Given the description of an element on the screen output the (x, y) to click on. 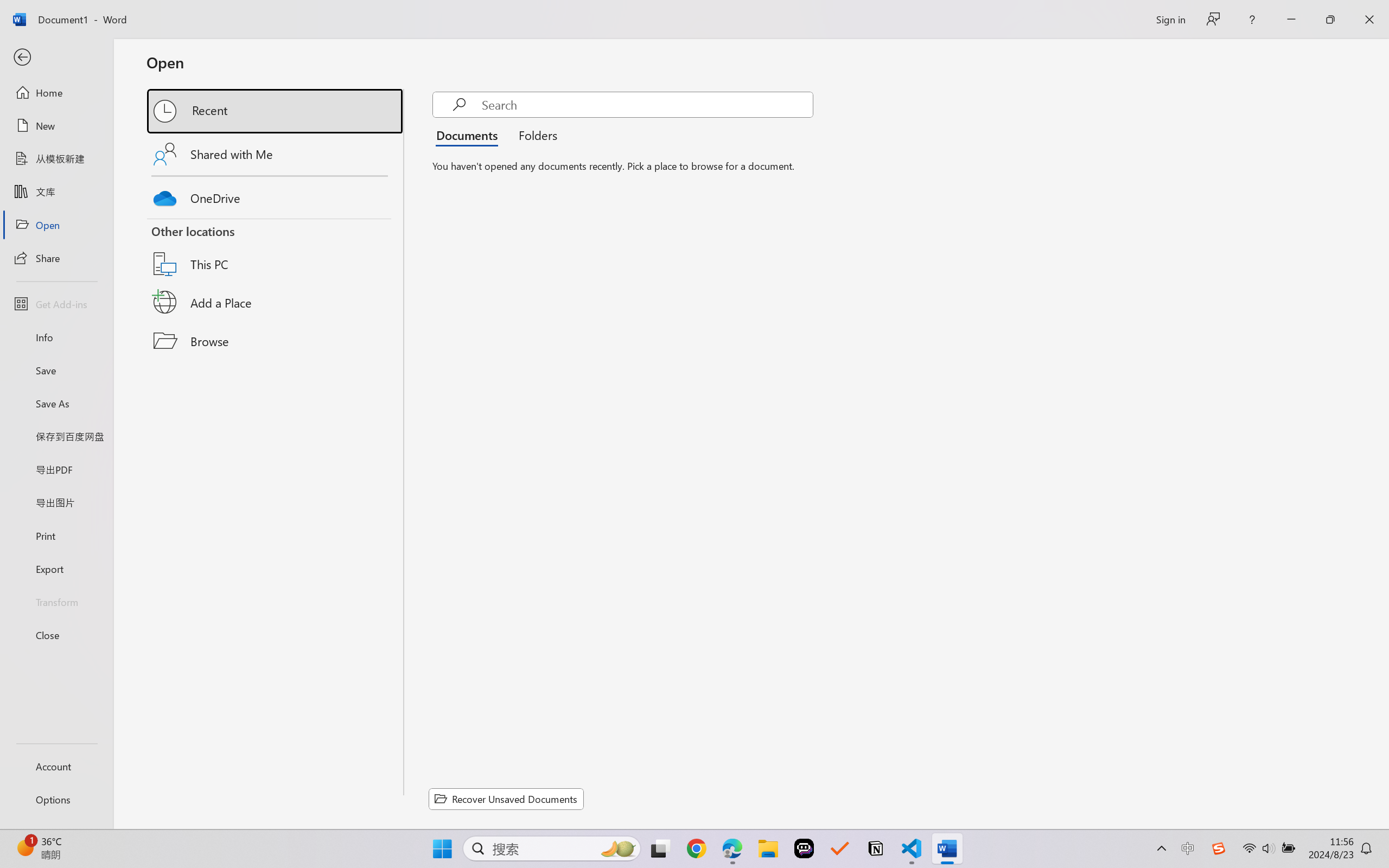
Folders (534, 134)
Get Add-ins (56, 303)
This PC (275, 249)
Recent (275, 110)
